Given the description of an element on the screen output the (x, y) to click on. 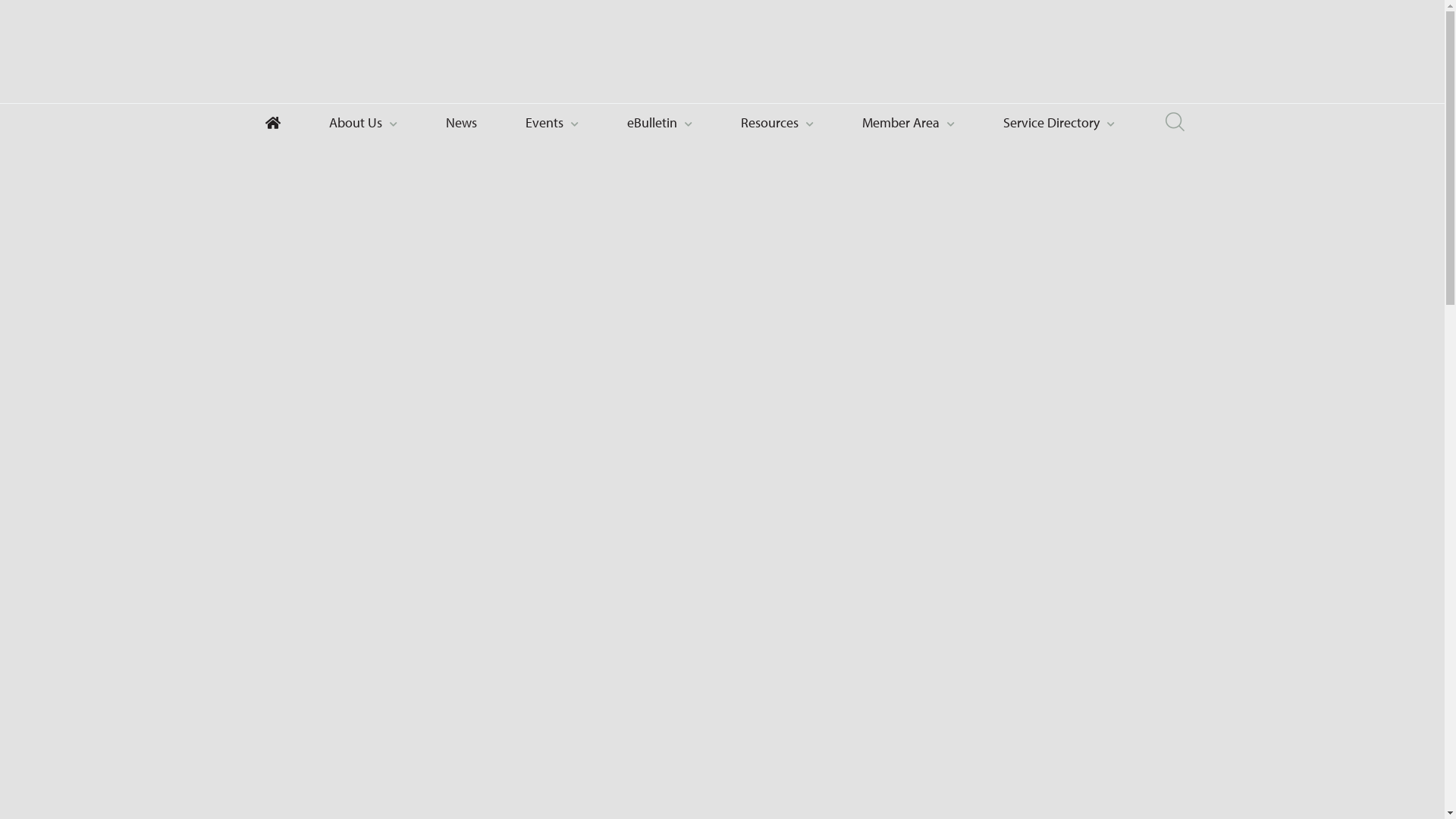
EVENTS Element type: text (293, 496)
08 6164 0380 Element type: text (989, 63)
About Us Element type: text (362, 122)
HOME Element type: text (253, 496)
Events Element type: text (551, 122)
Resources Element type: text (776, 122)
Service Directory Element type: text (1059, 122)
Member Area Element type: text (908, 122)
eBulletin Element type: text (659, 122)
CONTACT US Element type: text (1143, 64)
Home Element type: text (272, 122)
2020 EVENTS ARCHIVE Element type: text (426, 496)
News Element type: text (461, 122)
PAST EVENTS Element type: text (346, 496)
